Given the description of an element on the screen output the (x, y) to click on. 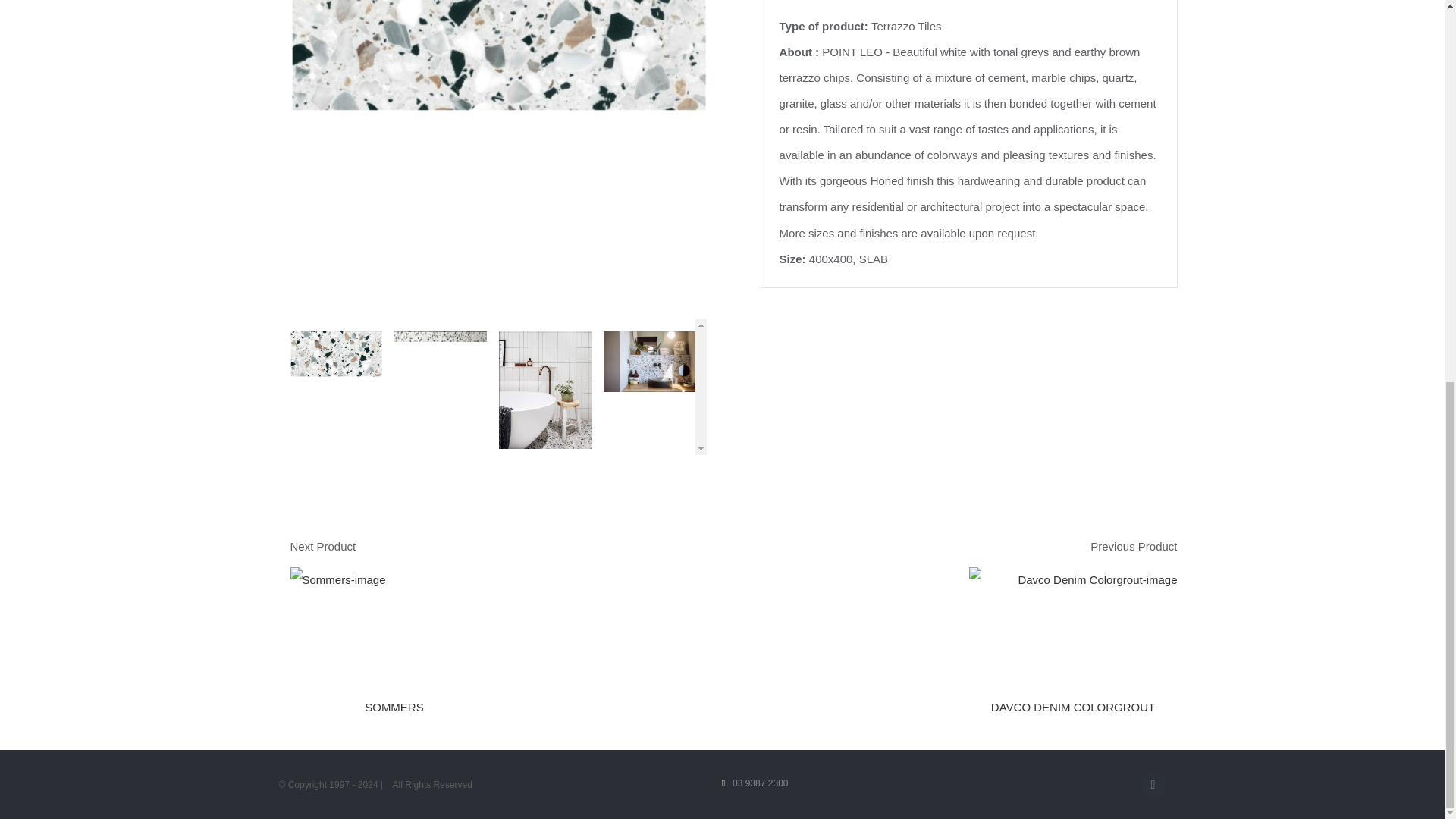
Instagram (1153, 784)
